Given the description of an element on the screen output the (x, y) to click on. 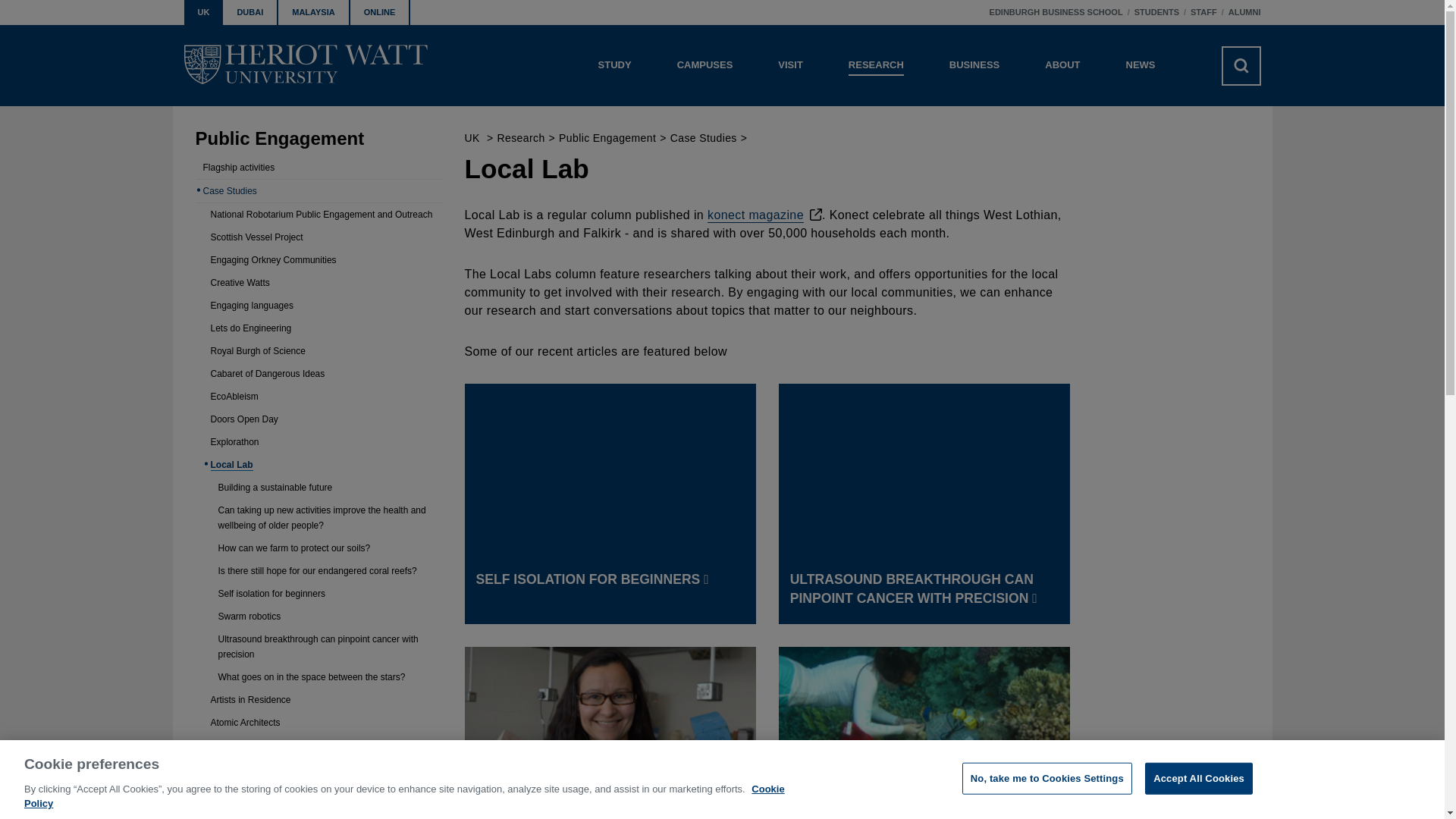
STUDENTS (1156, 12)
EDINBURGH BUSINESS SCHOOL (1056, 12)
MALAYSIA (313, 12)
DUBAI (250, 12)
UK (202, 12)
ALUMNI (1244, 12)
ONLINE (380, 12)
STAFF (1204, 12)
